Given the description of an element on the screen output the (x, y) to click on. 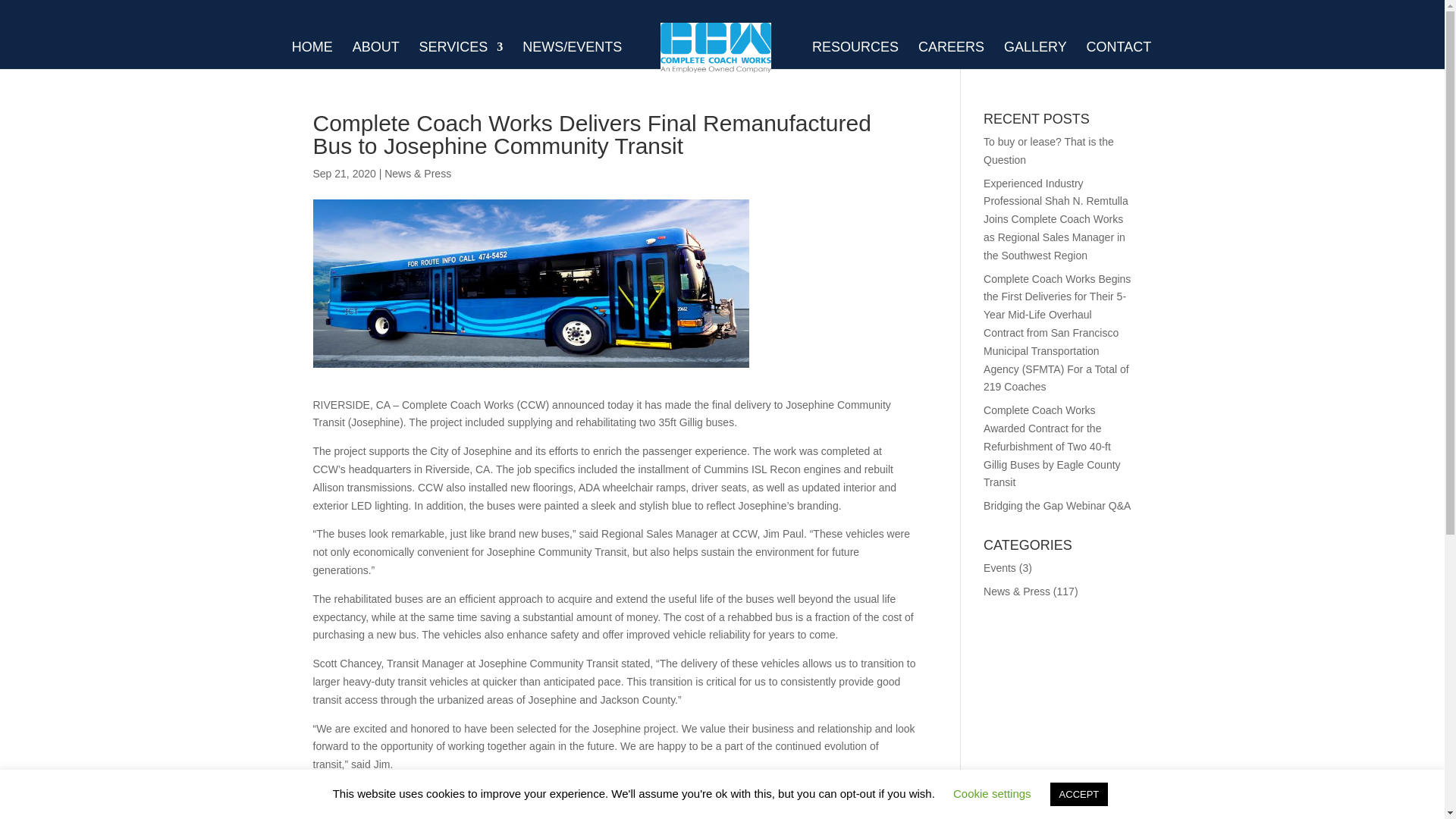
ABOUT (375, 54)
CONTACT (1118, 54)
GALLERY (1035, 54)
To buy or lease? That is the Question (1048, 150)
HOME (312, 54)
Events (1000, 567)
CAREERS (951, 54)
SERVICES (461, 54)
RESOURCES (855, 54)
